Given the description of an element on the screen output the (x, y) to click on. 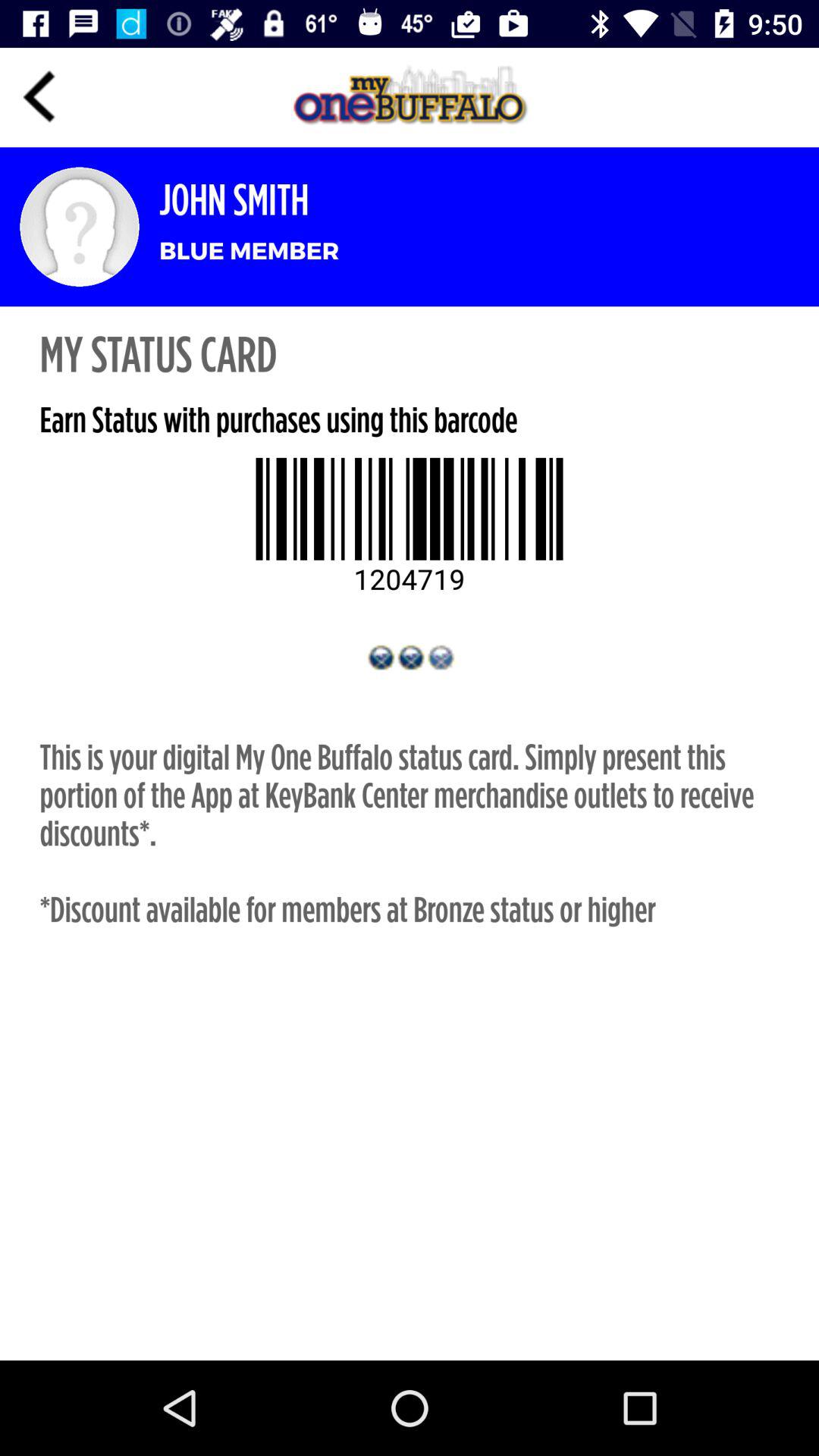
go to previous (39, 97)
